Given the description of an element on the screen output the (x, y) to click on. 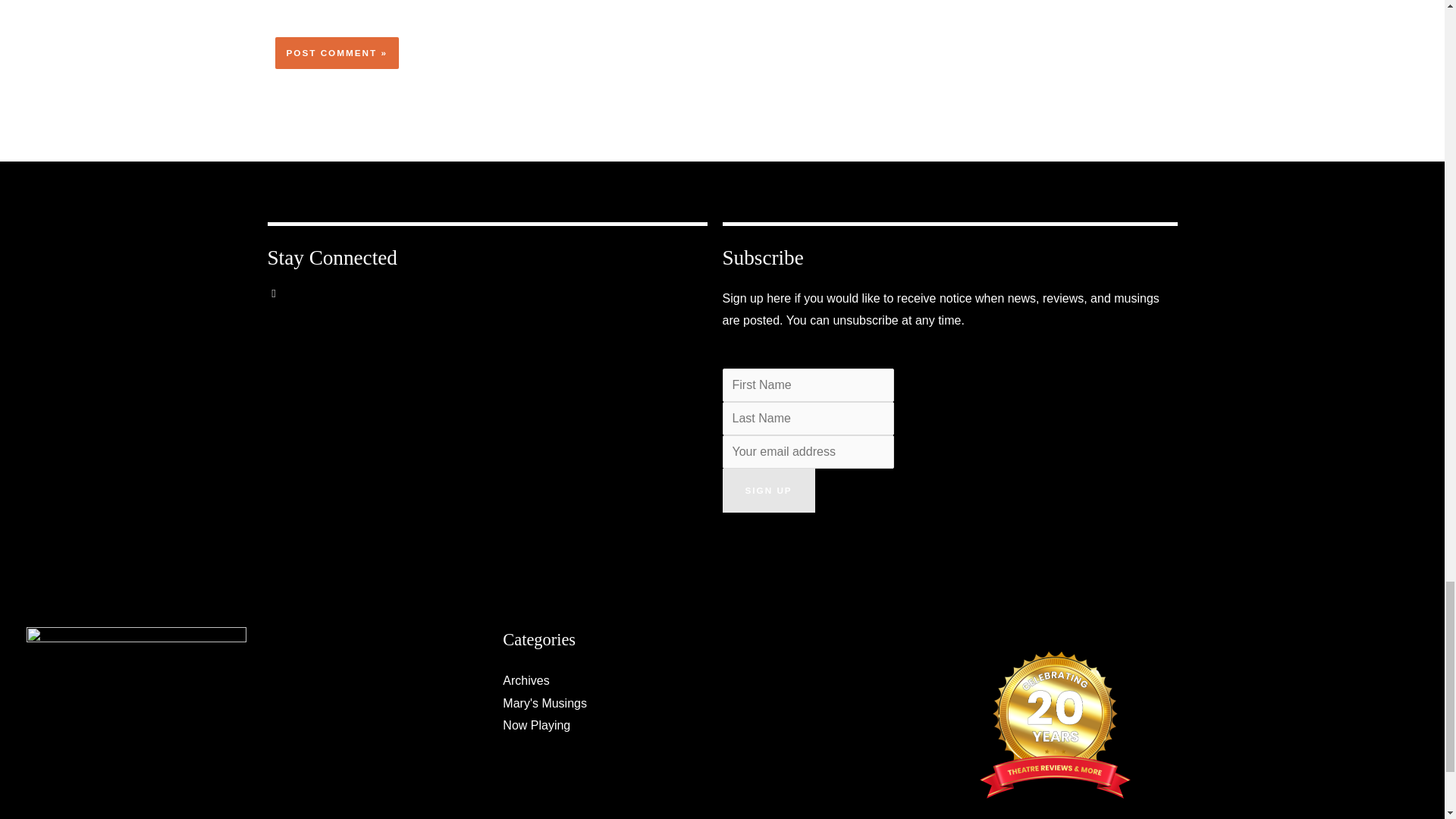
Archives (525, 680)
Sign up (767, 490)
Now Playing (536, 725)
Sign up (767, 490)
Facebook-f (283, 304)
Mary's Musings (544, 703)
